Given the description of an element on the screen output the (x, y) to click on. 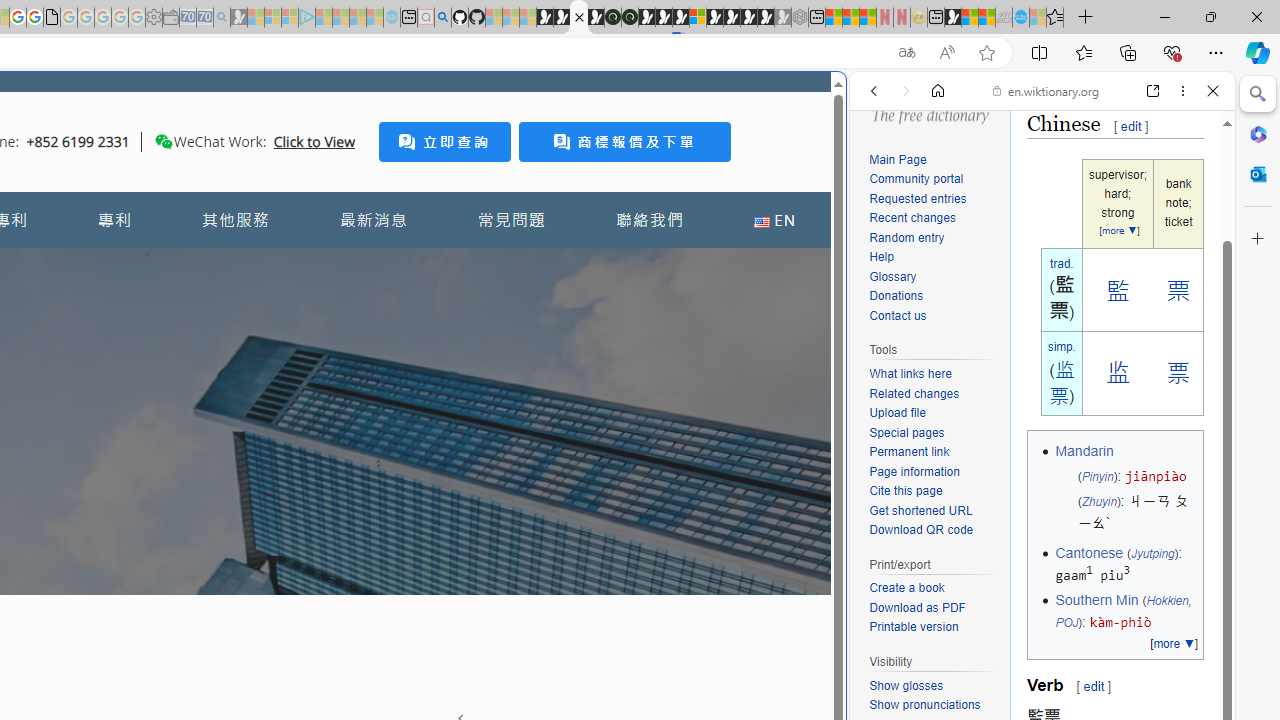
Cite this page (906, 490)
Community portal (916, 179)
Search Filter, Search Tools (1093, 228)
Tabs you've opened (276, 265)
Zhuyin (1099, 502)
Donations (934, 296)
Page information (934, 472)
Random entry (934, 238)
